Given the description of an element on the screen output the (x, y) to click on. 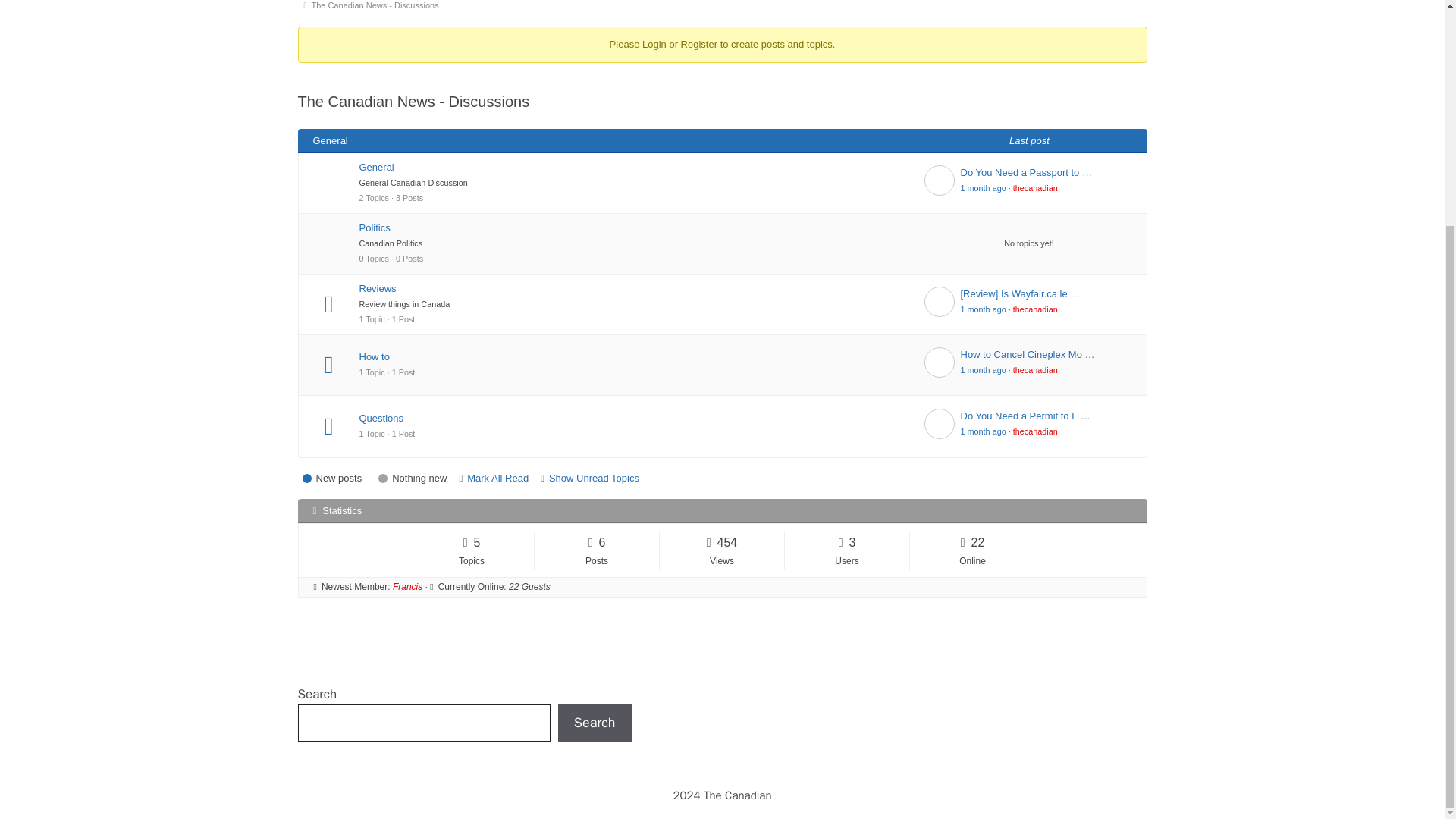
thecanadian (1035, 187)
thecanadian (1035, 308)
Register (699, 43)
Reviews (629, 288)
The Canadian News - Discussions (377, 7)
The Canadian News - Discussions (377, 7)
Politics (629, 227)
1 month ago (982, 308)
1 month ago (982, 187)
How to (629, 356)
